Given the description of an element on the screen output the (x, y) to click on. 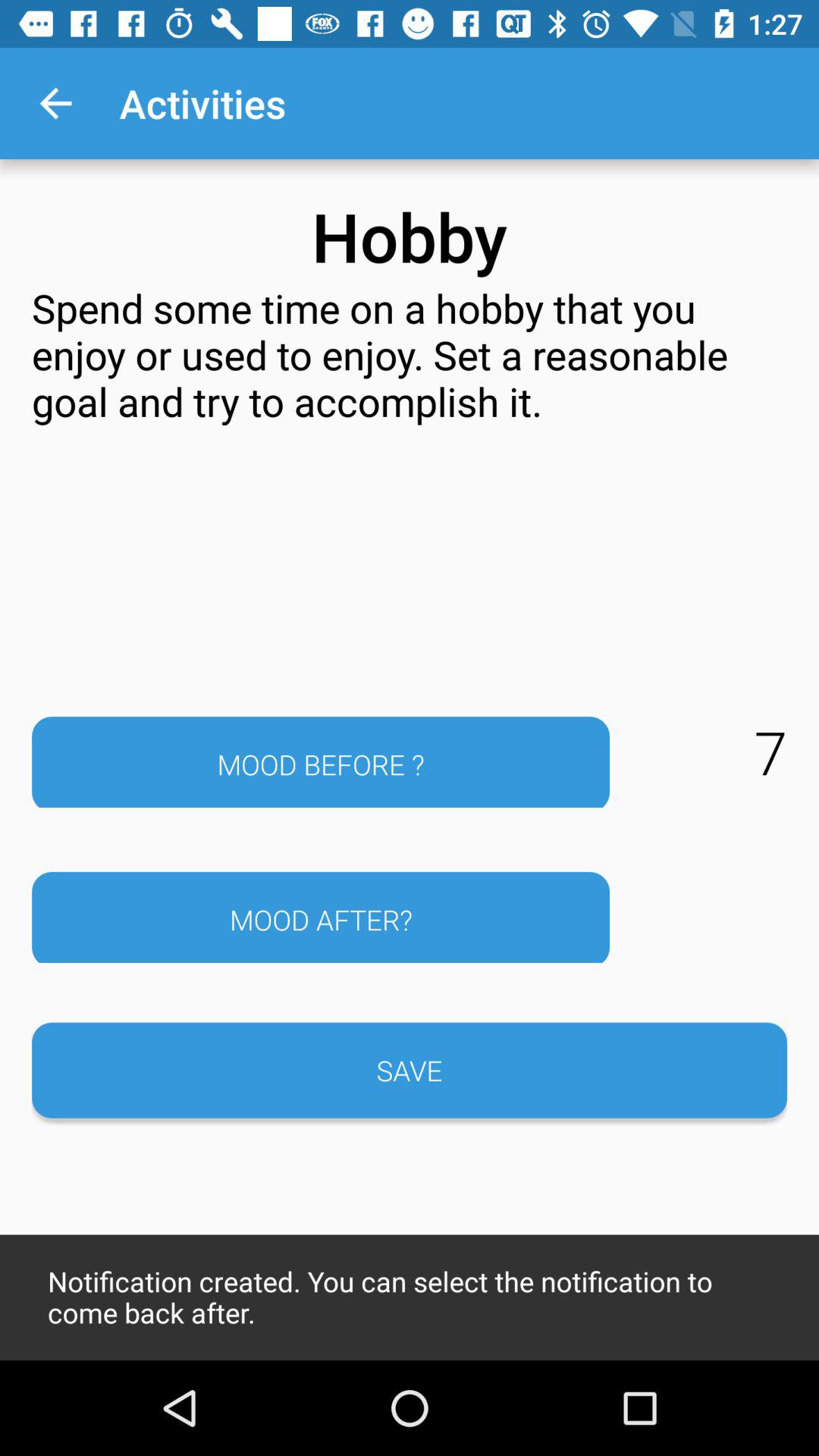
swipe until save item (409, 1070)
